Given the description of an element on the screen output the (x, y) to click on. 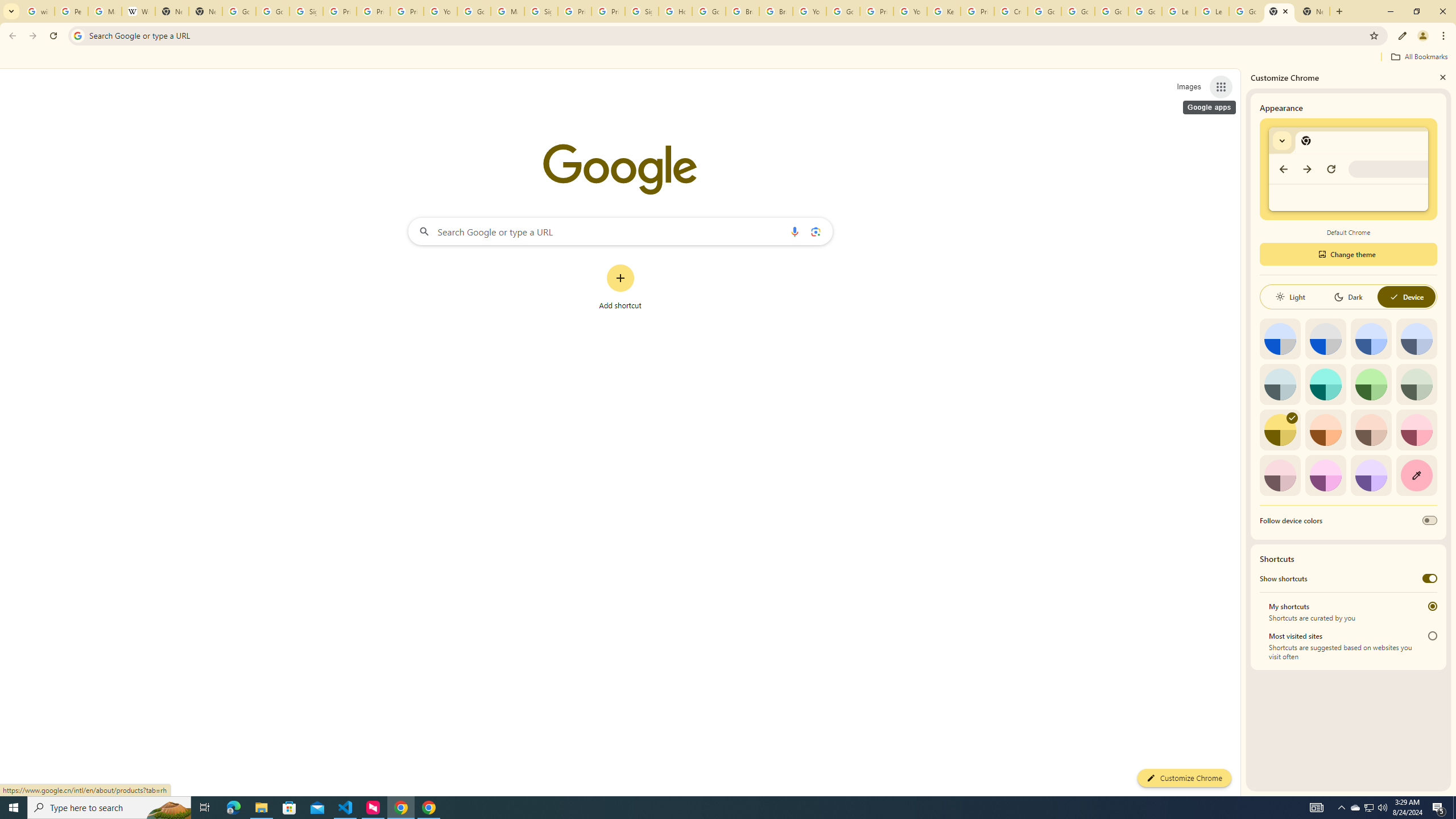
Search icon (77, 35)
Cool grey (1416, 338)
AutomationID: svg (1292, 417)
Custom color (1416, 475)
Manage your Location History - Google Search Help (104, 11)
Search Google or type a URL (619, 230)
New Tab (1279, 11)
Google Drive: Sign-in (272, 11)
Search by image (816, 230)
Sign in - Google Accounts (641, 11)
Citron (1279, 429)
